Given the description of an element on the screen output the (x, y) to click on. 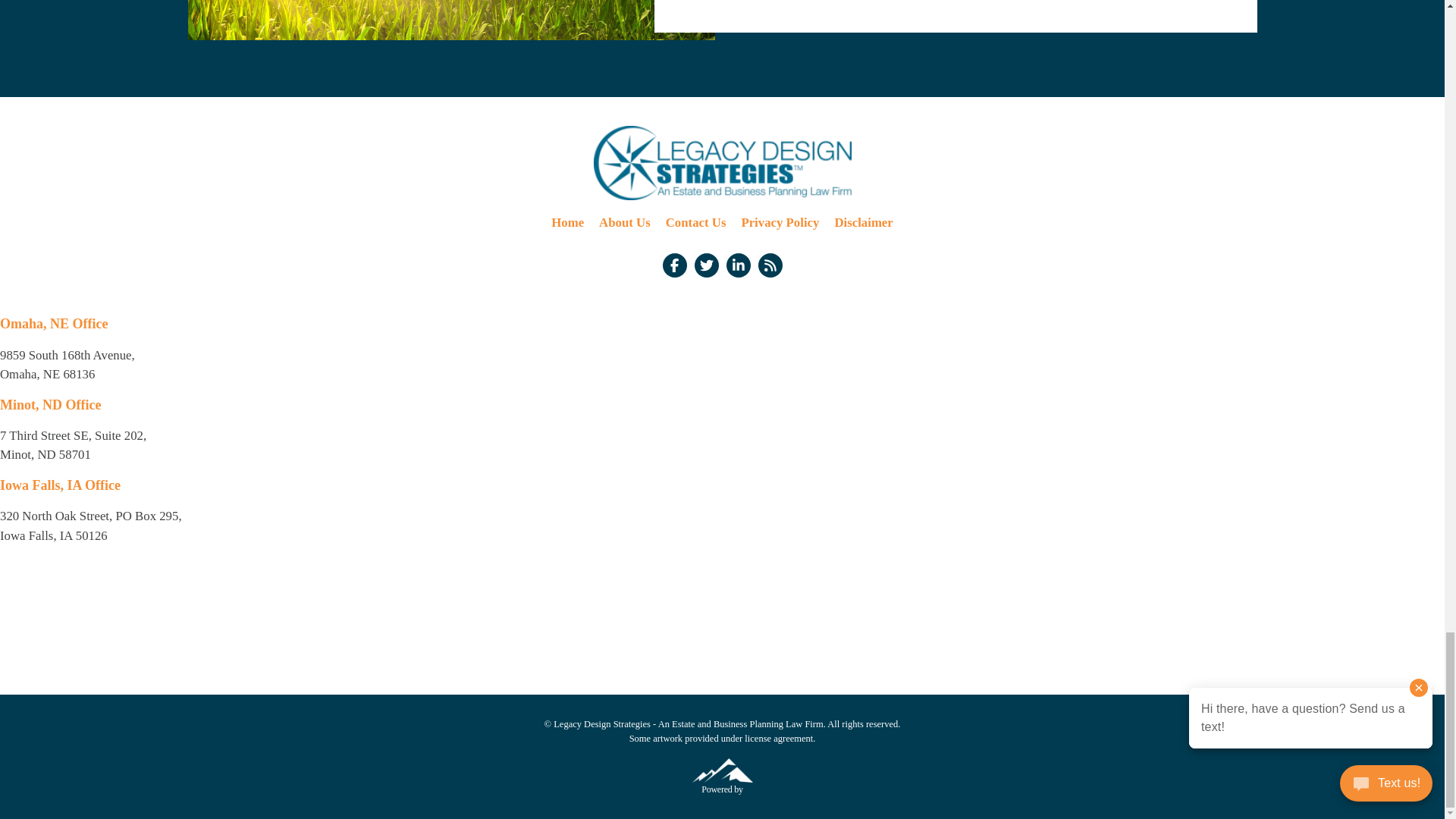
Areas We Serve (450, 20)
Powered by IMS - Opens New Window (721, 770)
